Given the description of an element on the screen output the (x, y) to click on. 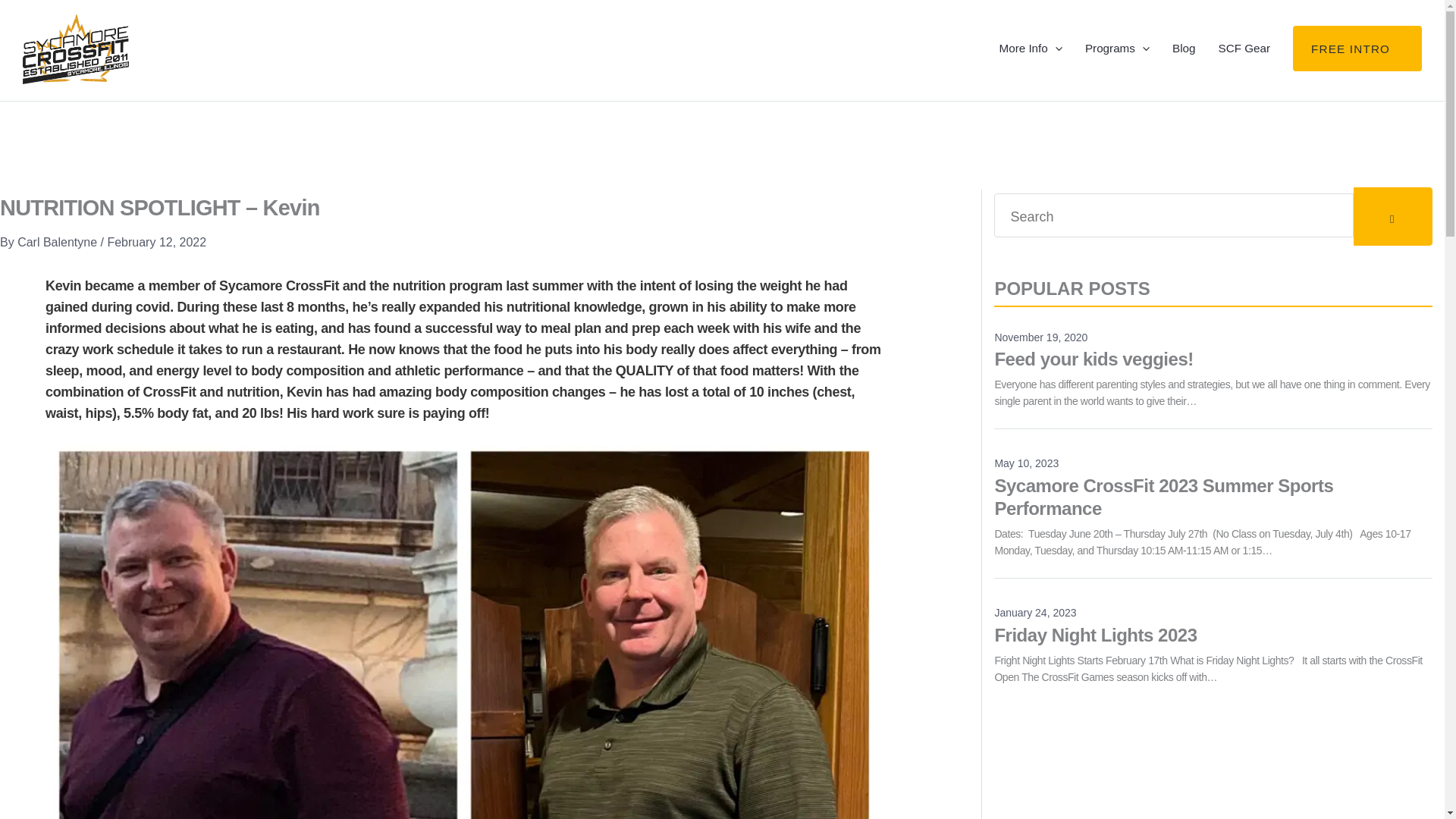
Carl Balentyne (58, 241)
View all posts by Carl Balentyne (1213, 628)
Blog (58, 241)
FREE INTRO (1183, 48)
Programs (1357, 48)
SCF Gear (1117, 48)
More Info (1213, 353)
